Given the description of an element on the screen output the (x, y) to click on. 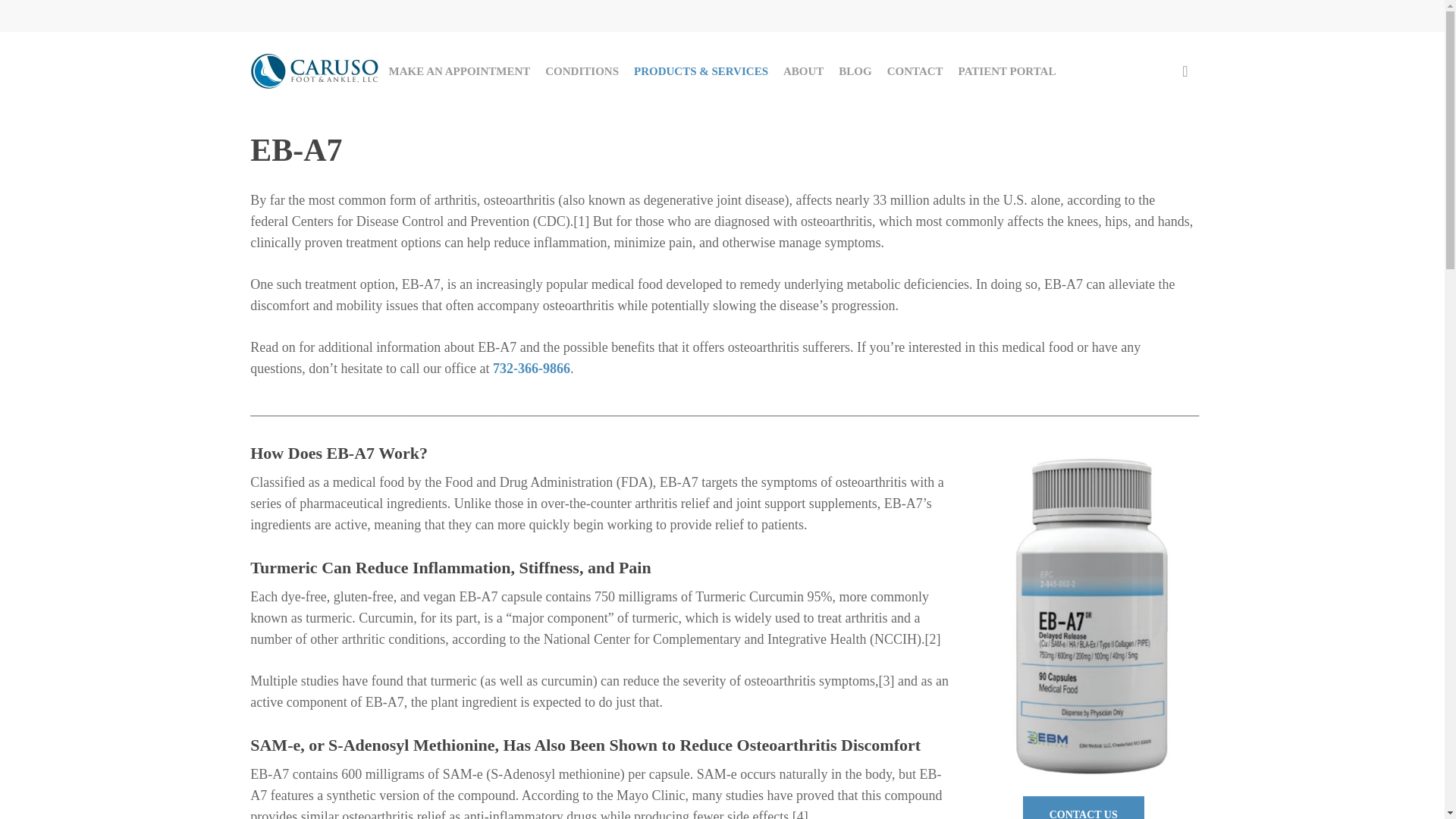
MAKE AN APPOINTMENT (459, 70)
CONTACT (914, 70)
ABOUT (803, 70)
CONDITIONS (581, 70)
CONTACT US (1083, 807)
search (1184, 71)
PATIENT PORTAL (1007, 70)
732-366-9866 (531, 368)
BLOG (855, 70)
